Given the description of an element on the screen output the (x, y) to click on. 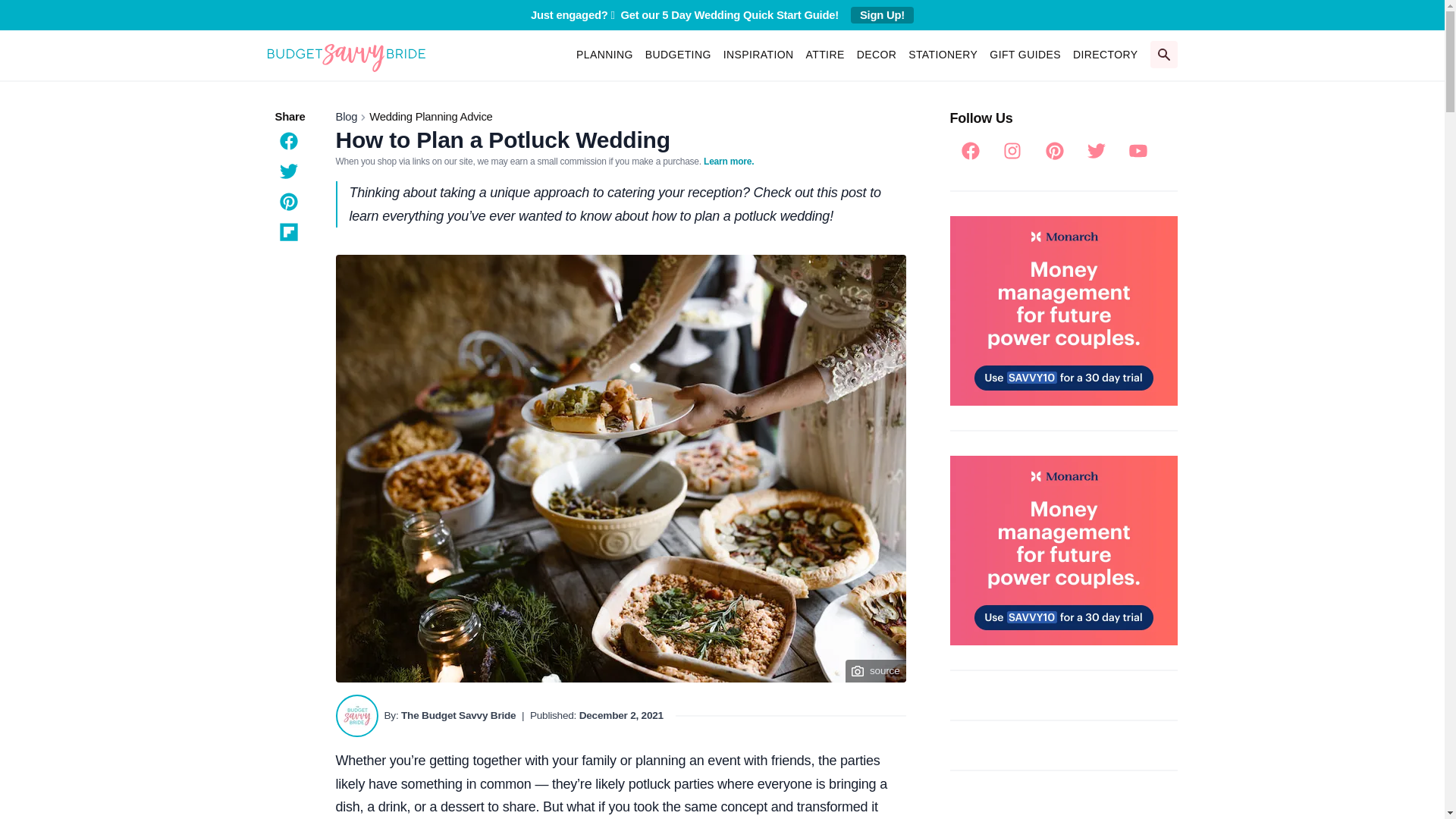
Sign Up! (882, 15)
BUDGETING (678, 54)
Sign Up! (882, 15)
PLANNING (604, 54)
ATTIRE (824, 54)
INSPIRATION (758, 54)
DECOR (876, 54)
